Given the description of an element on the screen output the (x, y) to click on. 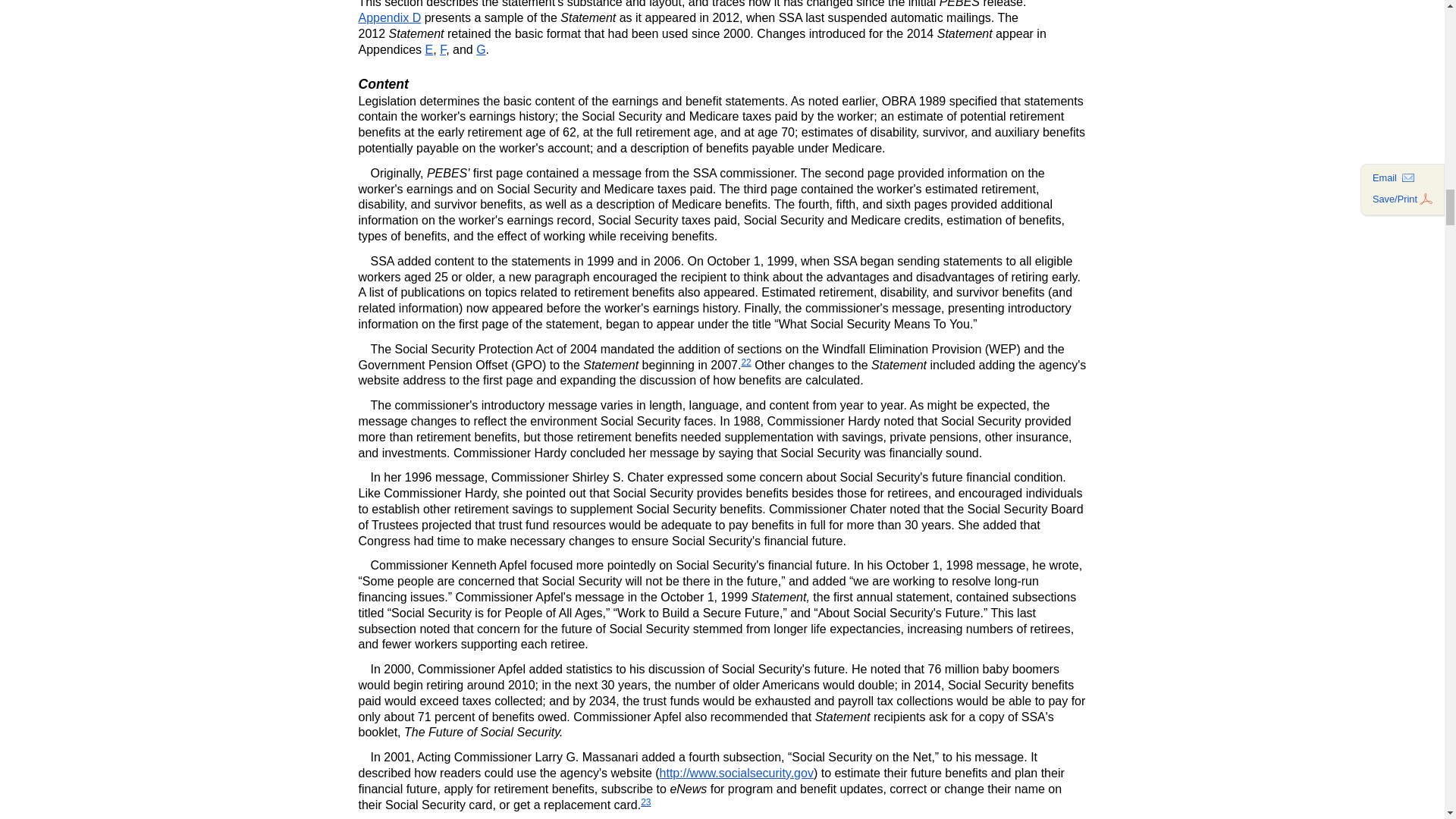
22 (746, 362)
23 (645, 801)
Appendix D (389, 17)
